Given the description of an element on the screen output the (x, y) to click on. 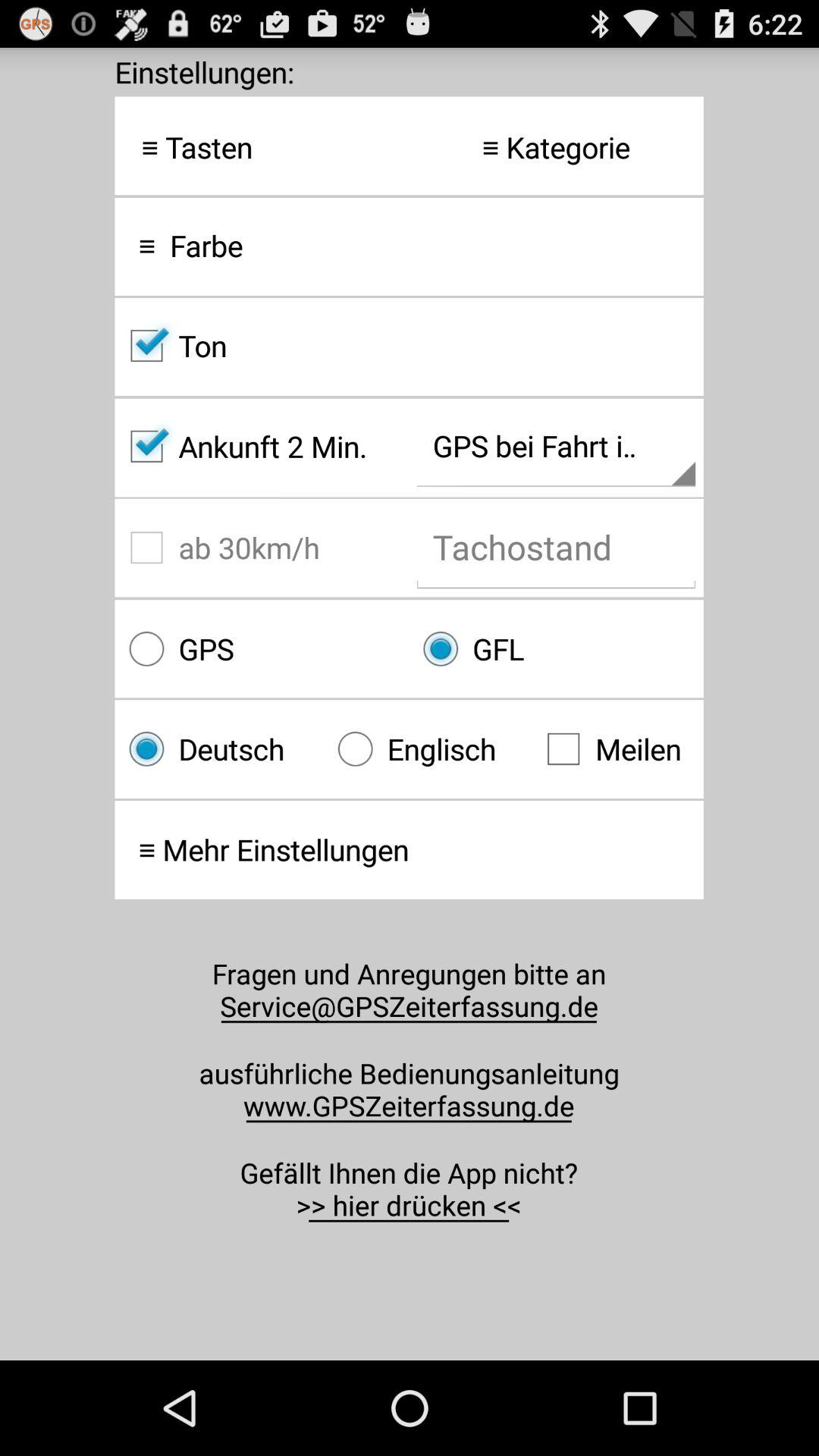
press gfl icon (555, 648)
